Given the description of an element on the screen output the (x, y) to click on. 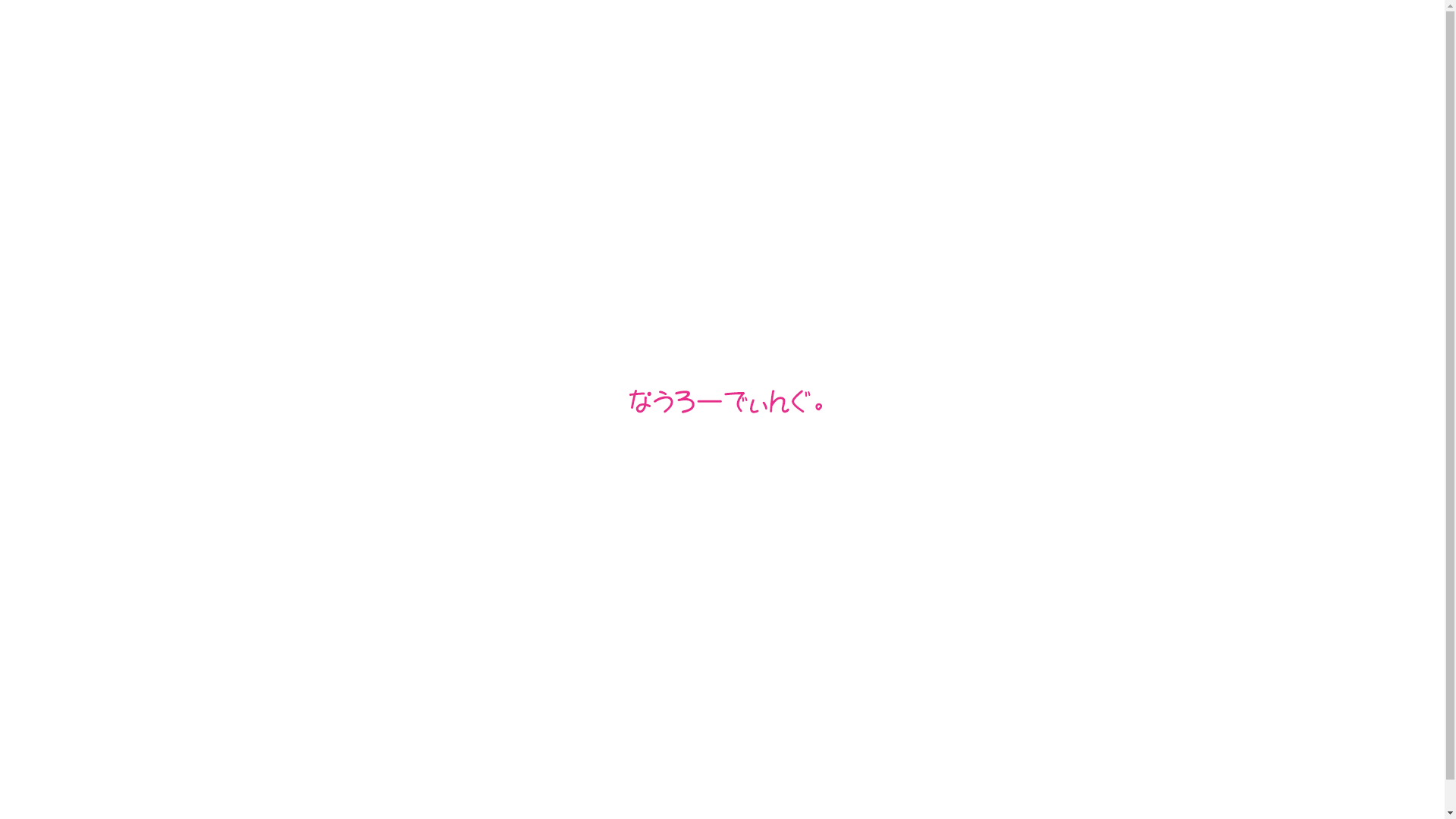
TOP Element type: hover (45, 49)
